Given the description of an element on the screen output the (x, y) to click on. 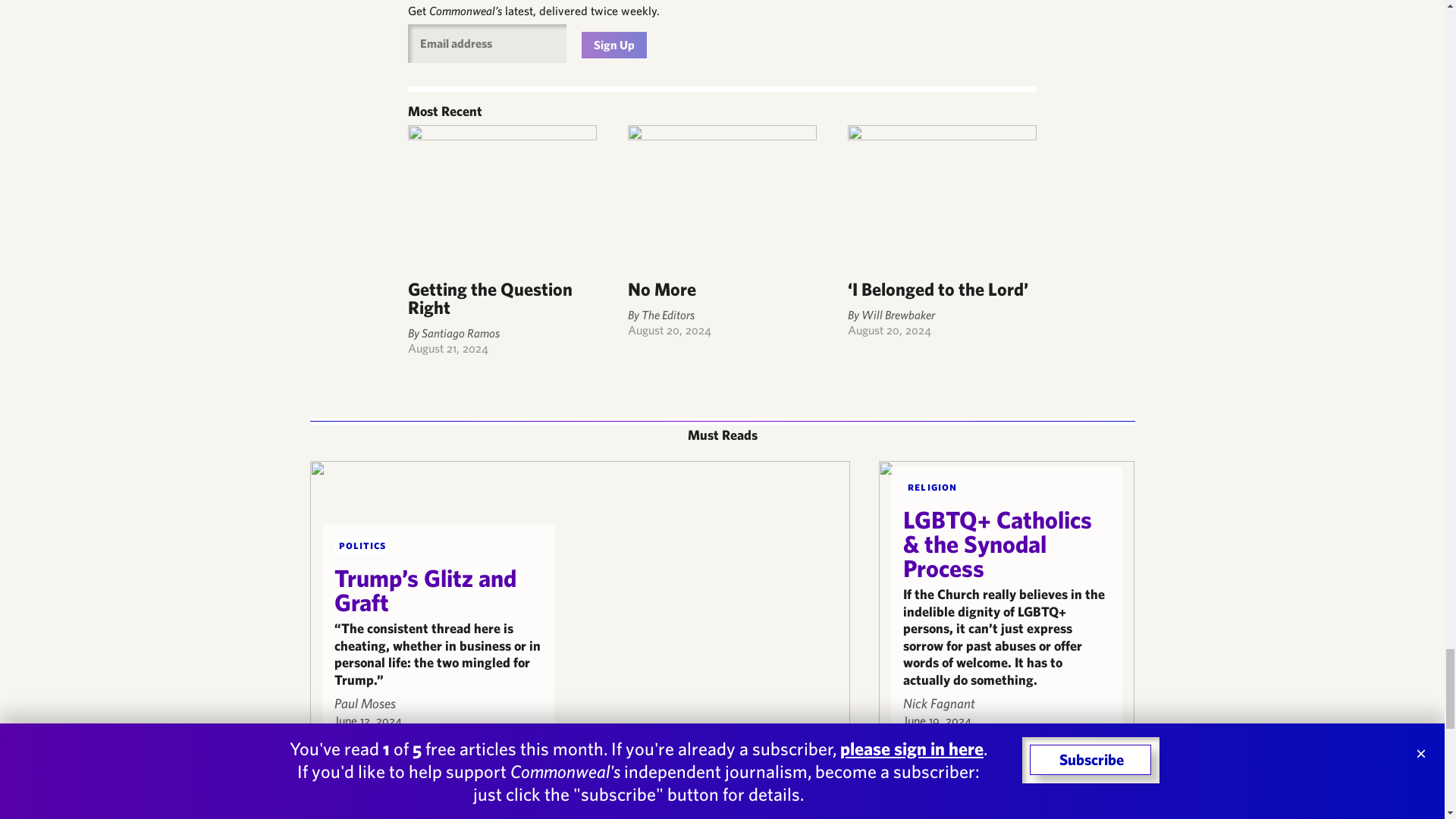
Tuesday, August 20, 2024 - 11:39 (669, 329)
Tuesday, August 20, 2024 - 10:37 (889, 329)
Sign Up (613, 44)
Wednesday, August 21, 2024 - 14:46 (447, 347)
View user profile. (363, 703)
Wednesday, June 12, 2024 - 10:53 (367, 720)
View user profile. (938, 703)
Wednesday, June 19, 2024 - 13:57 (936, 720)
